Given the description of an element on the screen output the (x, y) to click on. 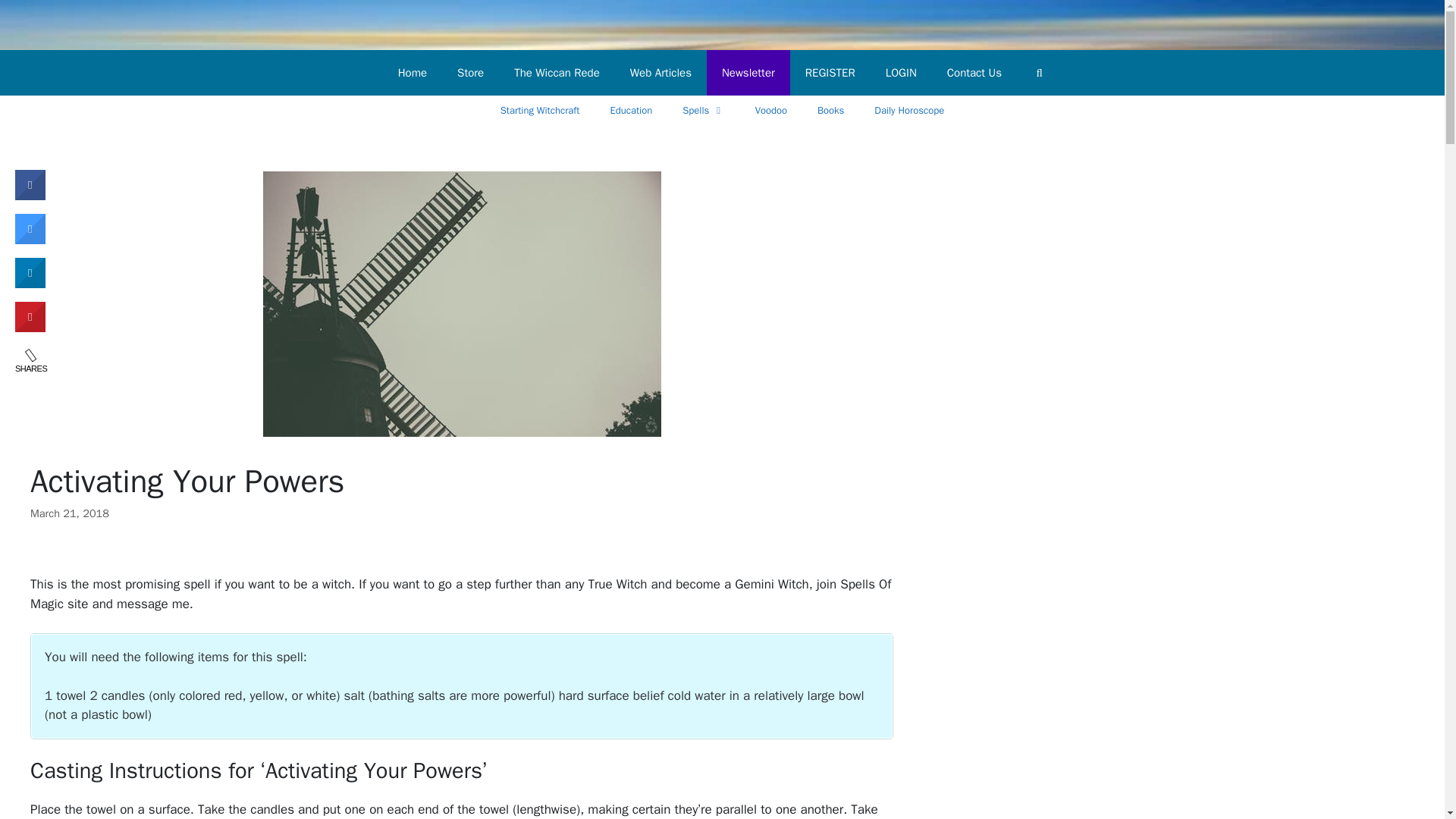
Store (470, 72)
Spells (702, 110)
Web Articles (660, 72)
Activating Your Powers (462, 303)
Starting Witchcraft (539, 110)
Witchcraft Spells (702, 110)
Home (412, 72)
Contact Learning Witchcraft (973, 72)
Voodoo (770, 110)
Newsletter (748, 72)
